Given the description of an element on the screen output the (x, y) to click on. 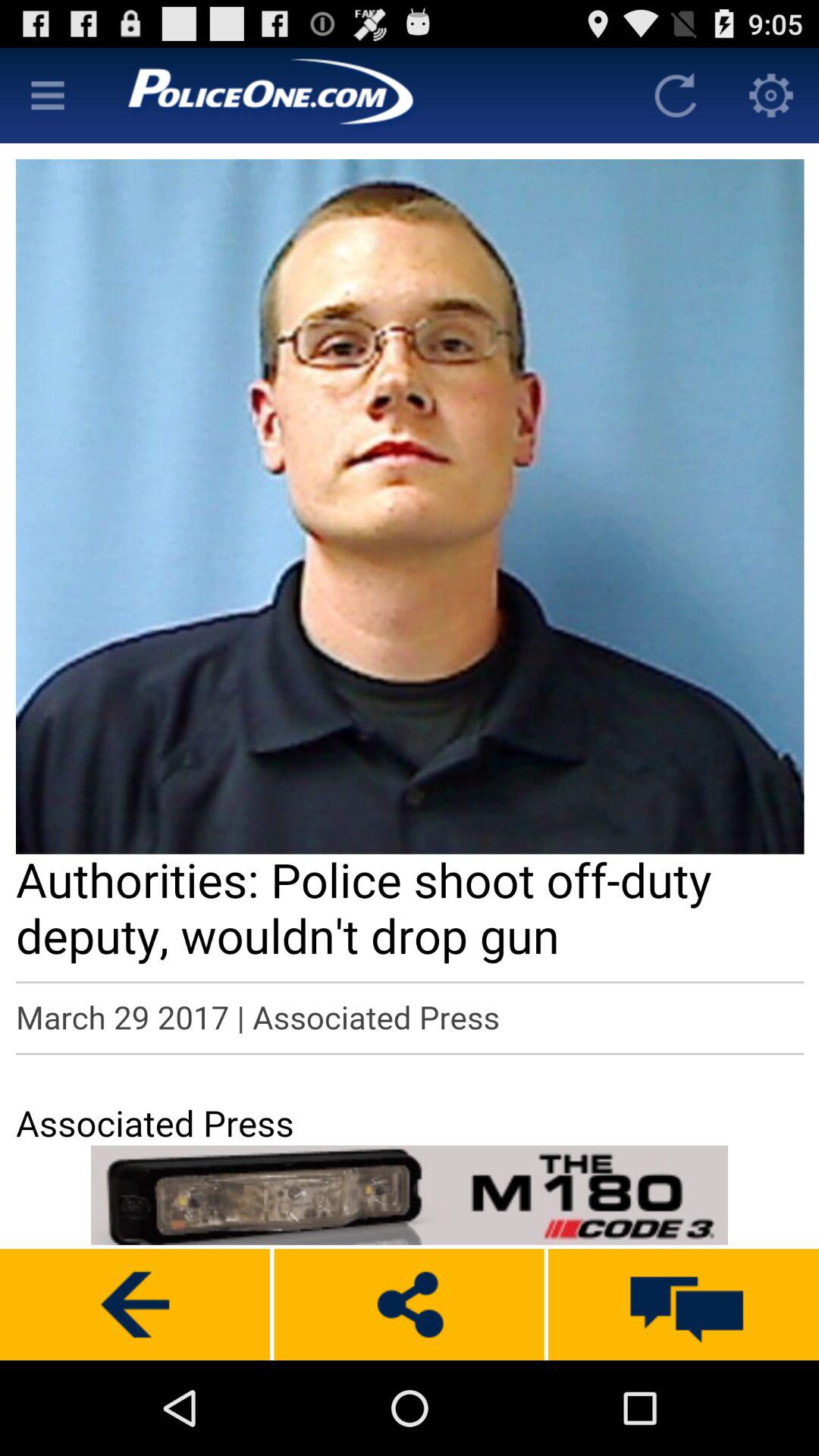
share the article (409, 1304)
